Given the description of an element on the screen output the (x, y) to click on. 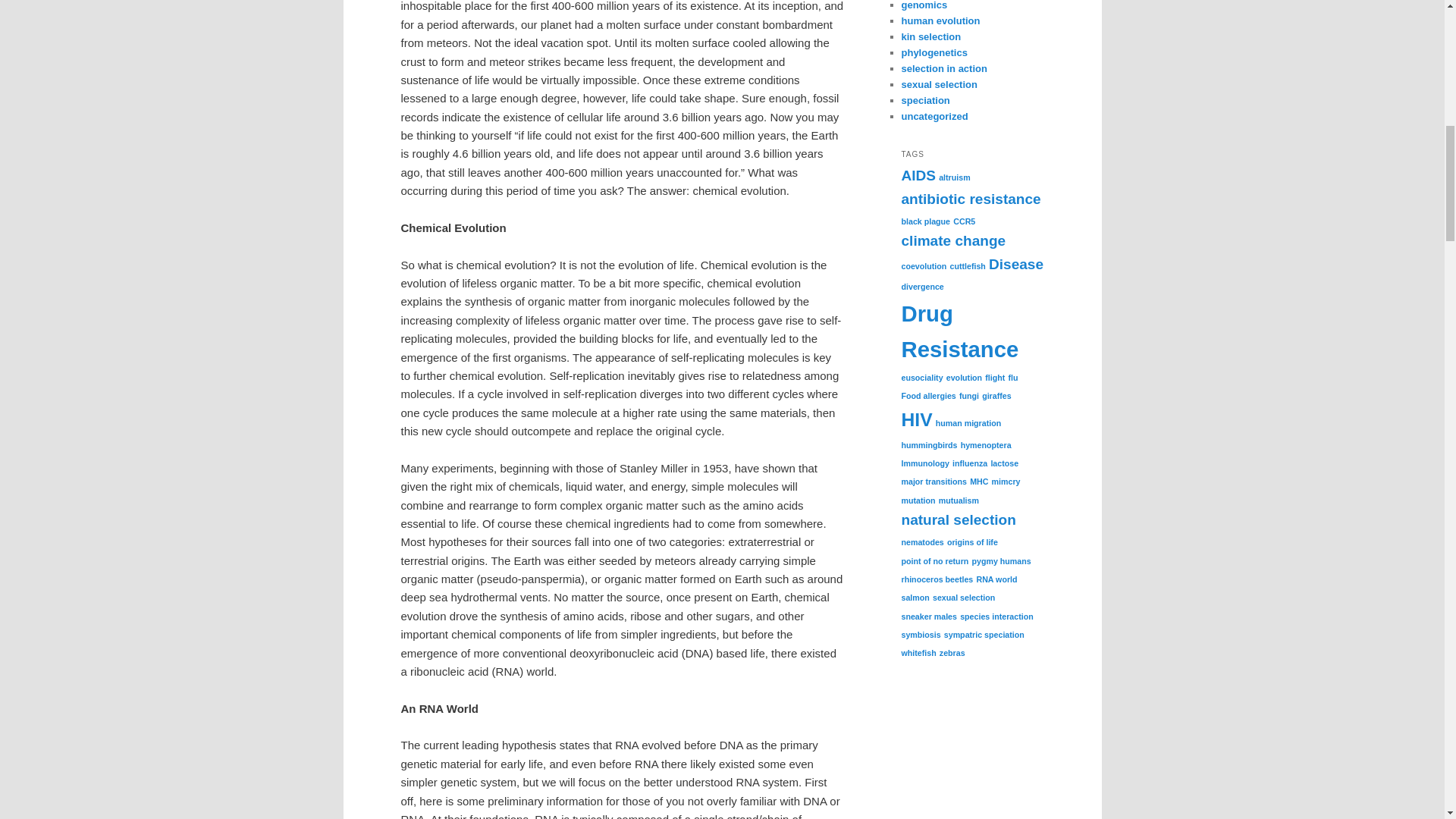
kin selection (930, 36)
genomics (924, 5)
human evolution (940, 20)
